Given the description of an element on the screen output the (x, y) to click on. 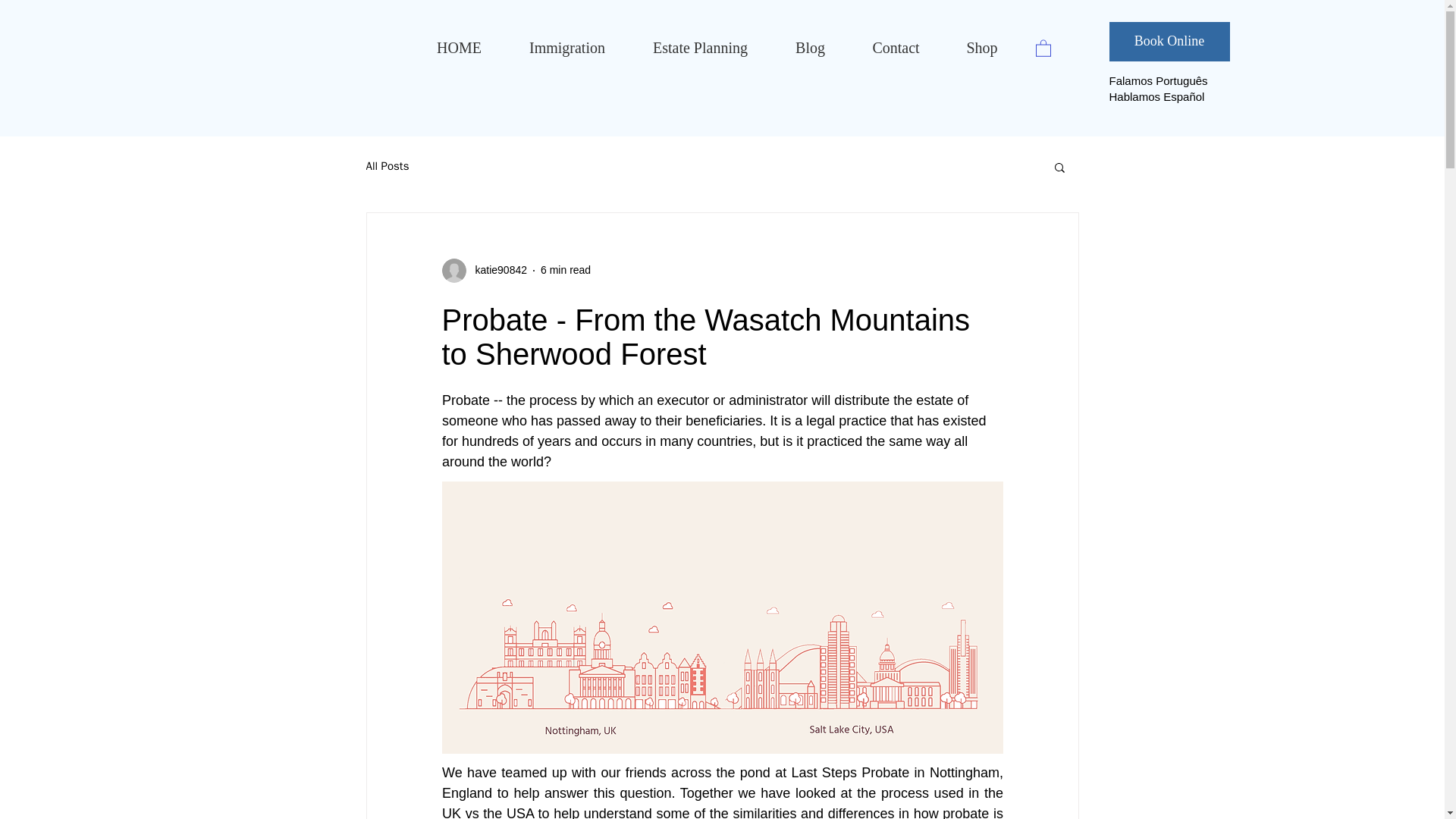
Shop (982, 47)
Estate Planning (699, 47)
HOME (458, 47)
katie90842 (496, 270)
Blog (809, 47)
Book Online (1168, 41)
6 min read (565, 269)
Contact (895, 47)
Immigration (566, 47)
katie90842 (484, 270)
